Given the description of an element on the screen output the (x, y) to click on. 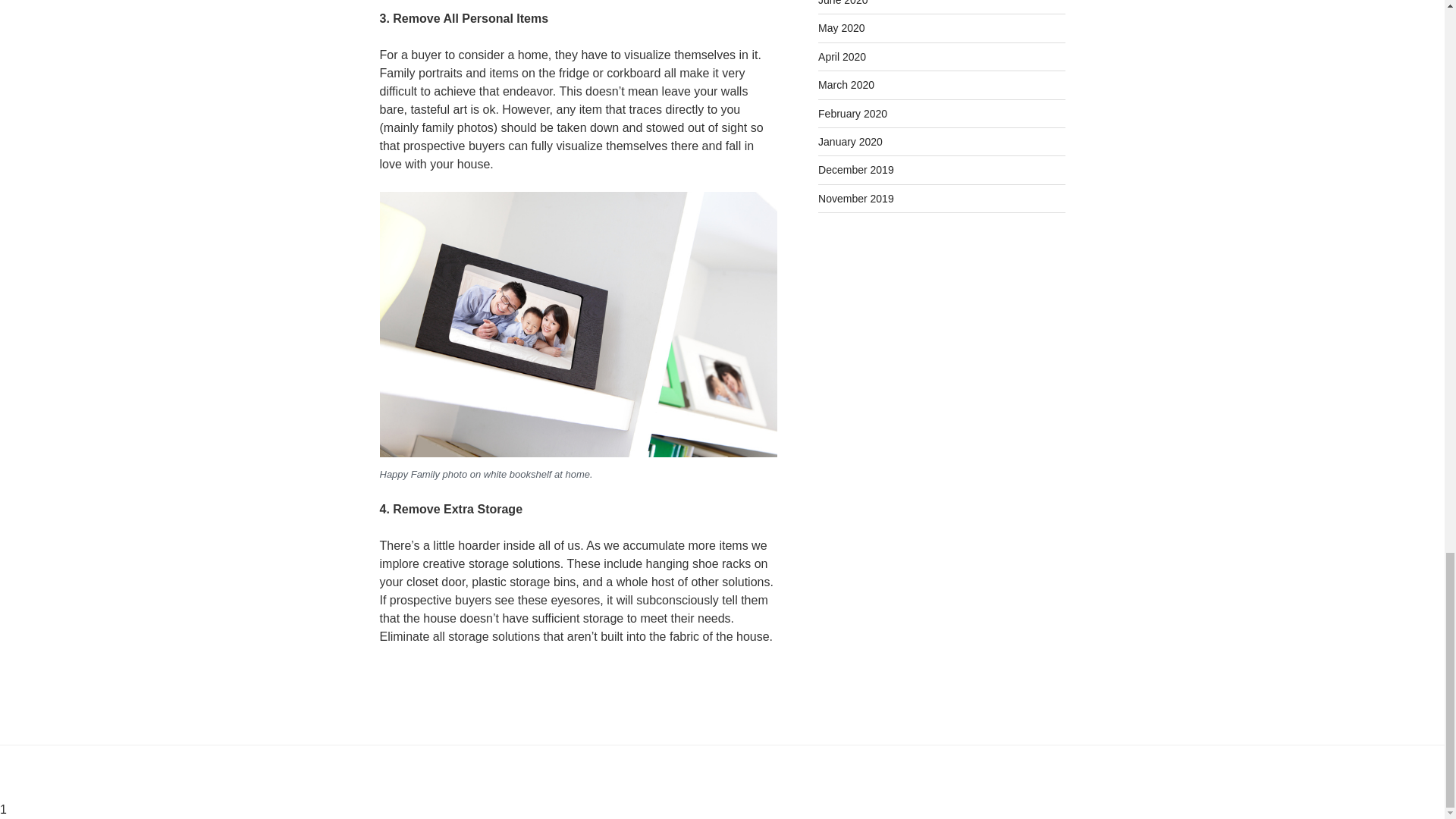
April 2020 (842, 56)
February 2020 (852, 113)
January 2020 (850, 141)
May 2020 (841, 28)
December 2019 (855, 169)
June 2020 (842, 2)
November 2019 (855, 198)
March 2020 (846, 84)
